Given the description of an element on the screen output the (x, y) to click on. 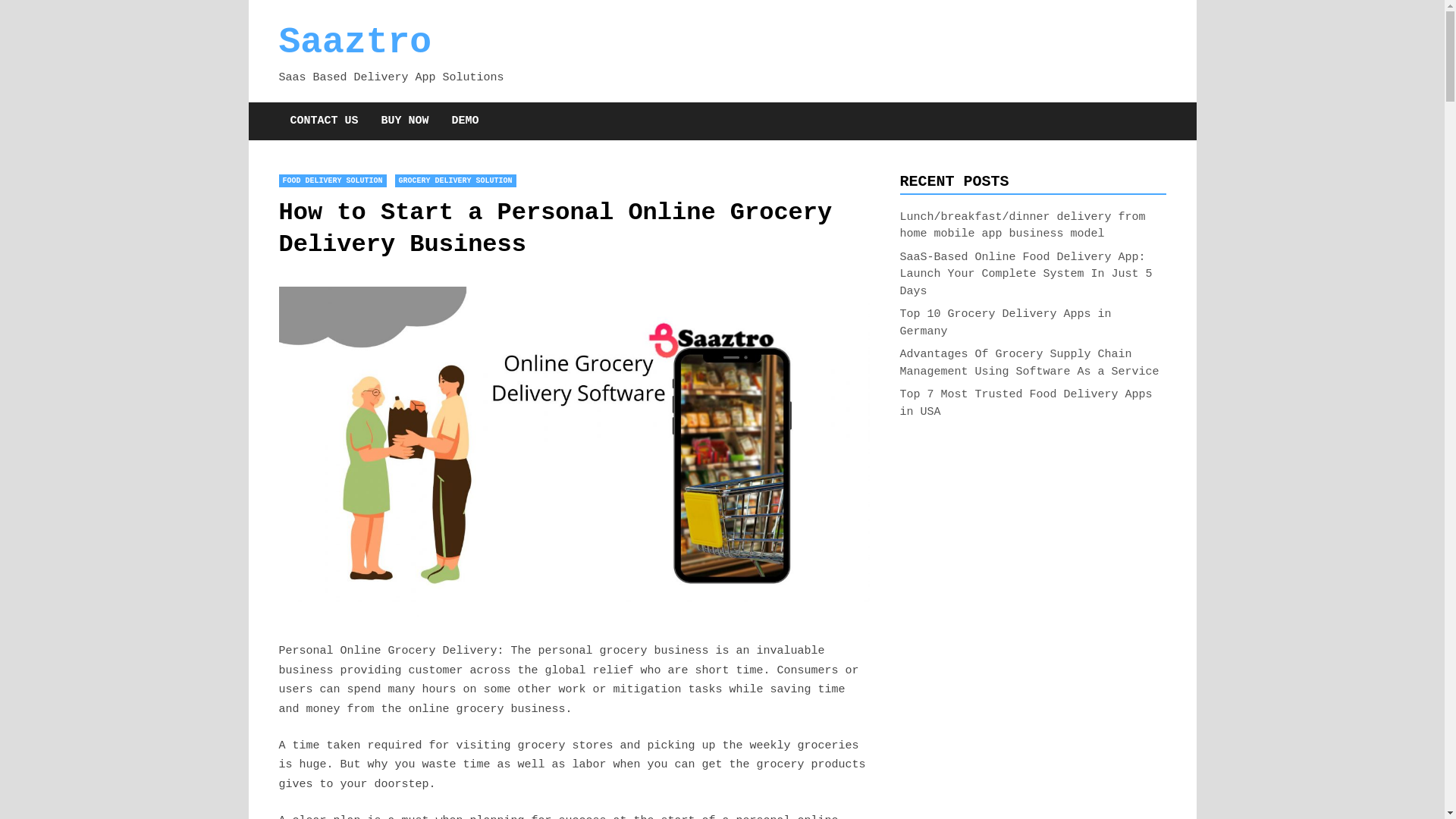
Top 7 Most Trusted Food Delivery Apps in USA (1025, 403)
Saaztro (355, 42)
Top 10 Grocery Delivery Apps in Germany (1004, 322)
CONTACT US (324, 120)
GROCERY DELIVERY SOLUTION (455, 180)
BUY NOW (405, 120)
FOOD DELIVERY SOLUTION (333, 180)
DEMO (465, 120)
